Given the description of an element on the screen output the (x, y) to click on. 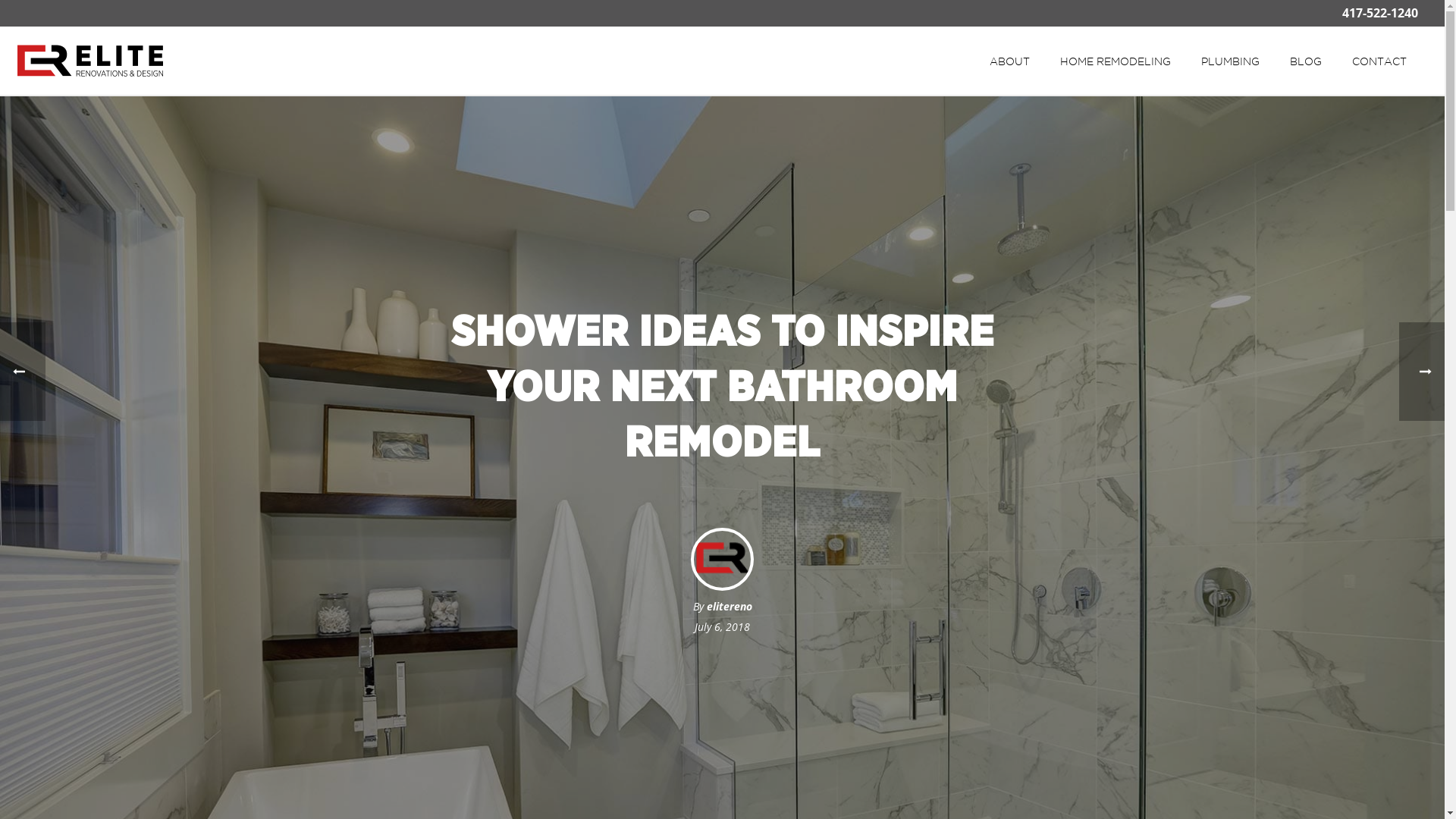
ABOUT Element type: text (1009, 62)
BLOG Element type: text (1305, 62)
PLUMBING Element type: text (1230, 62)
elitereno Element type: text (729, 606)
417-522-1240 Element type: text (1380, 12)
HOME REMODELING Element type: text (1115, 62)
July 6, 2018 Element type: text (721, 626)
CONTACT Element type: text (1378, 62)
